Given the description of an element on the screen output the (x, y) to click on. 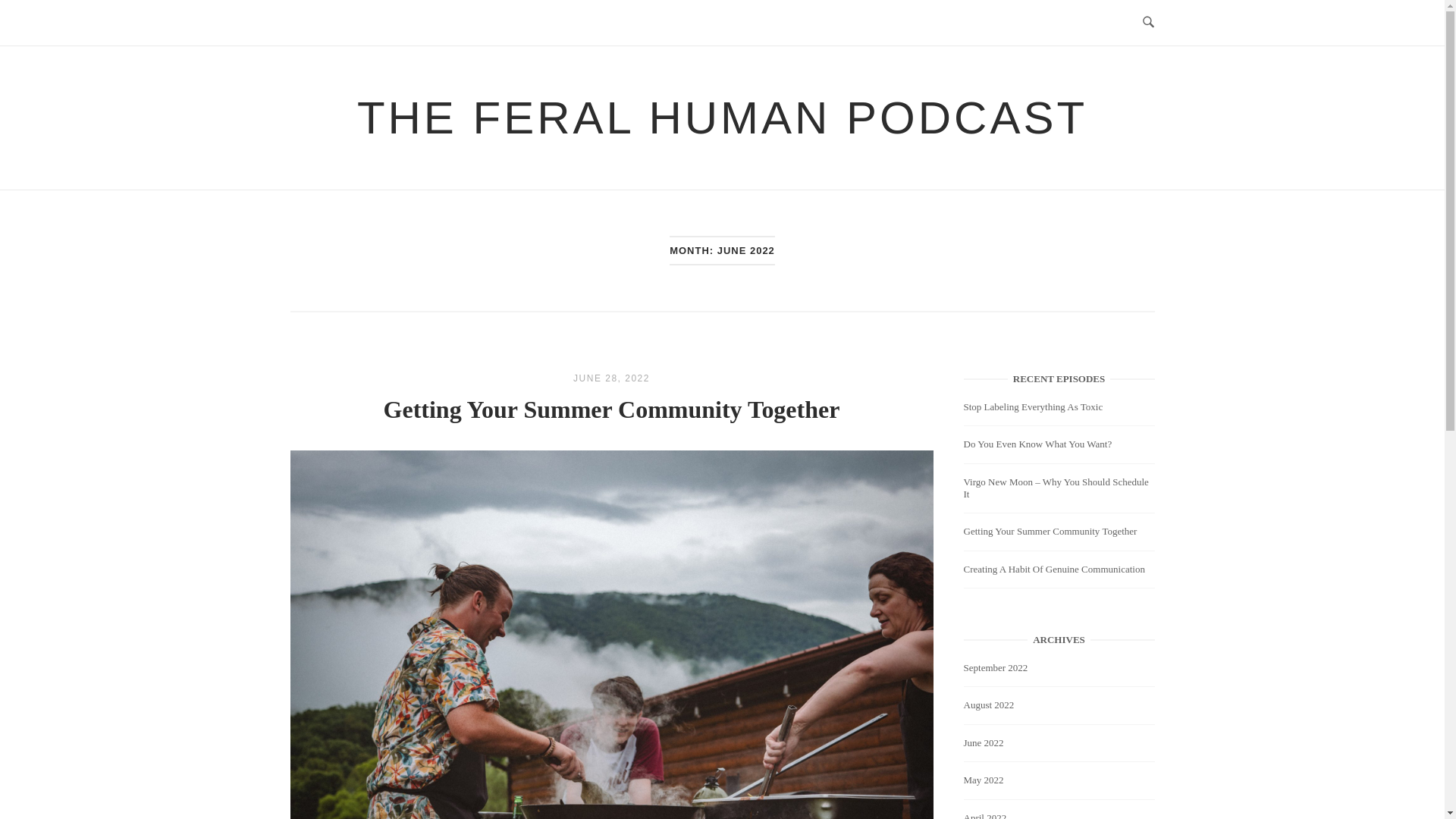
Getting Your Summer Community Together (611, 378)
Stop Labeling Everything As Toxic (1033, 409)
August 2022 (988, 704)
September 2022 (995, 667)
May 2022 (983, 779)
Do You Even Know What You Want? (1037, 446)
Getting Your Summer Community Together (1050, 533)
JUNE 28, 2022 (611, 378)
June 2022 (983, 742)
Creating A Habit Of Genuine Communication (1053, 571)
